Given the description of an element on the screen output the (x, y) to click on. 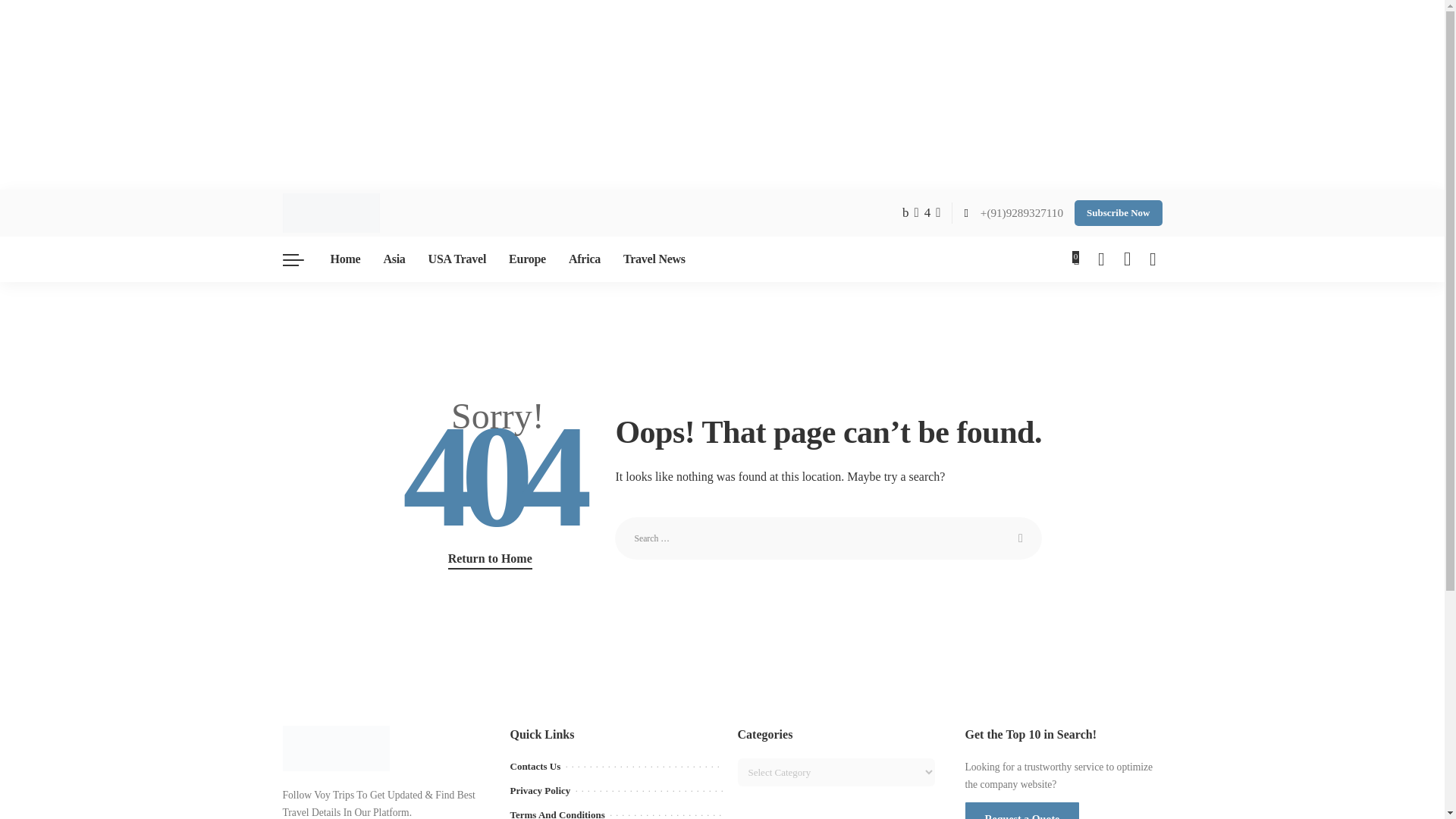
Return to Home (490, 559)
Subscribe Now (1117, 212)
Home (344, 258)
Europe (527, 258)
Search (1020, 537)
USA Travel (456, 258)
Asia (393, 258)
Search (1020, 537)
Voy Trips (330, 212)
